Given the description of an element on the screen output the (x, y) to click on. 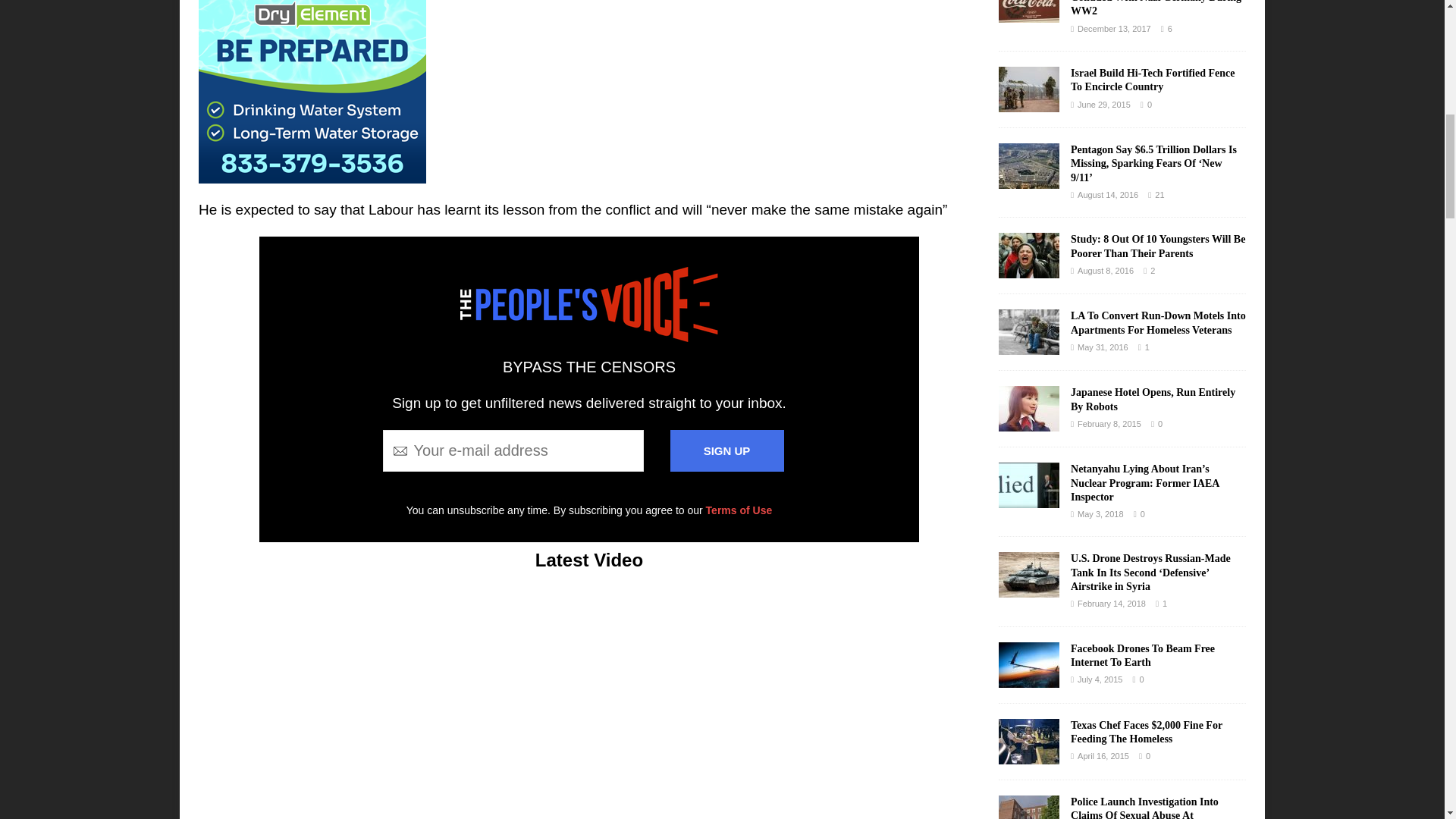
SIGN UP (726, 450)
